Given the description of an element on the screen output the (x, y) to click on. 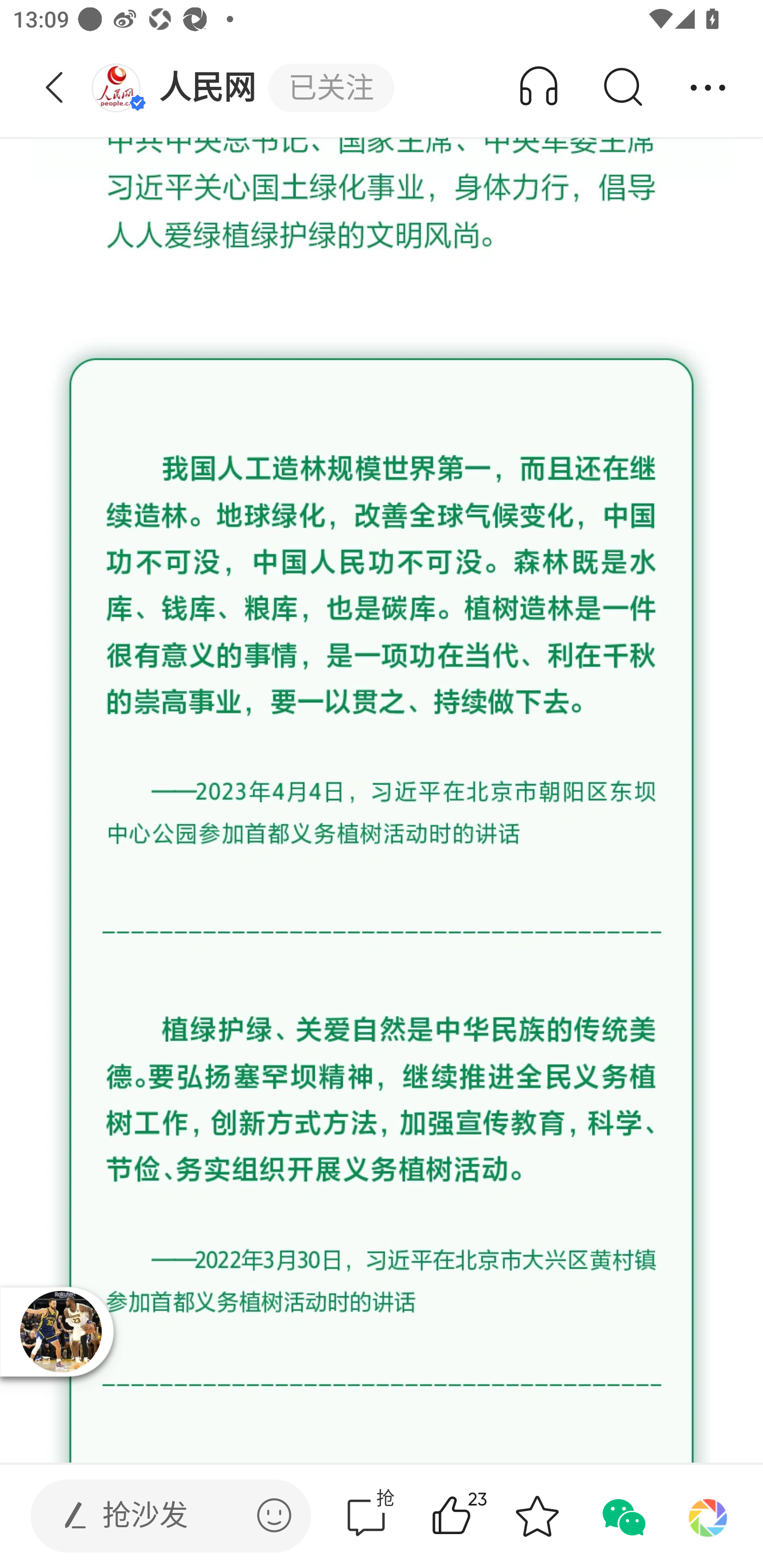
人民网 (179, 87)
搜索  (622, 87)
分享  (707, 87)
 返回 (54, 87)
已关注 (330, 88)
播放器 (60, 1331)
发表评论  抢沙发 发表评论  (155, 1516)
抢评论  抢 评论 (365, 1516)
23赞 (476, 1516)
收藏  (536, 1516)
分享到微信  (622, 1516)
分享到朋友圈 (707, 1516)
 (274, 1515)
